Given the description of an element on the screen output the (x, y) to click on. 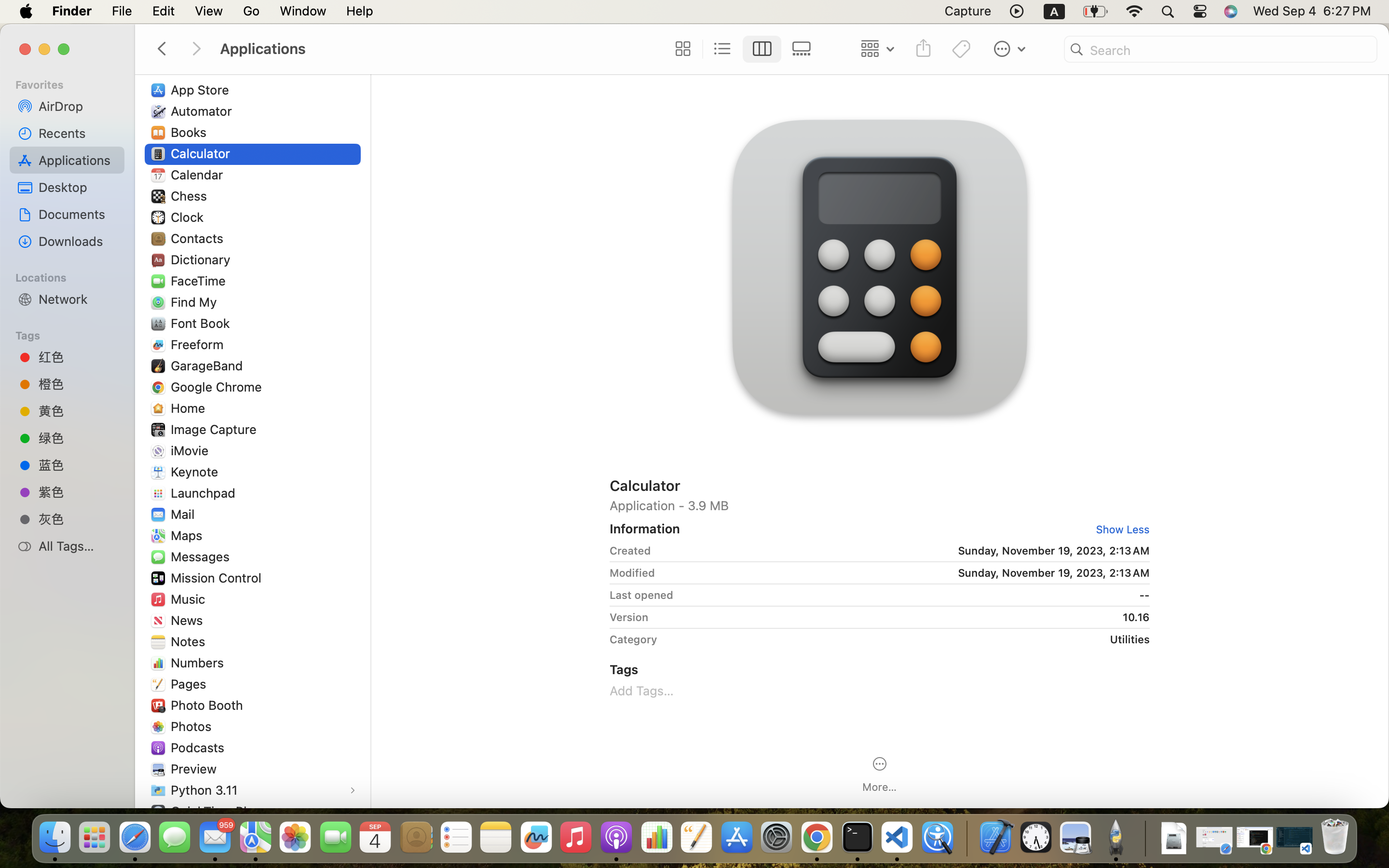
Desktop Element type: AXStaticText (77, 186)
Notes Element type: AXTextField (189, 641)
10.16 Element type: AXStaticText (901, 616)
Music Element type: AXTextField (189, 598)
Google Chrome Element type: AXTextField (218, 386)
